Given the description of an element on the screen output the (x, y) to click on. 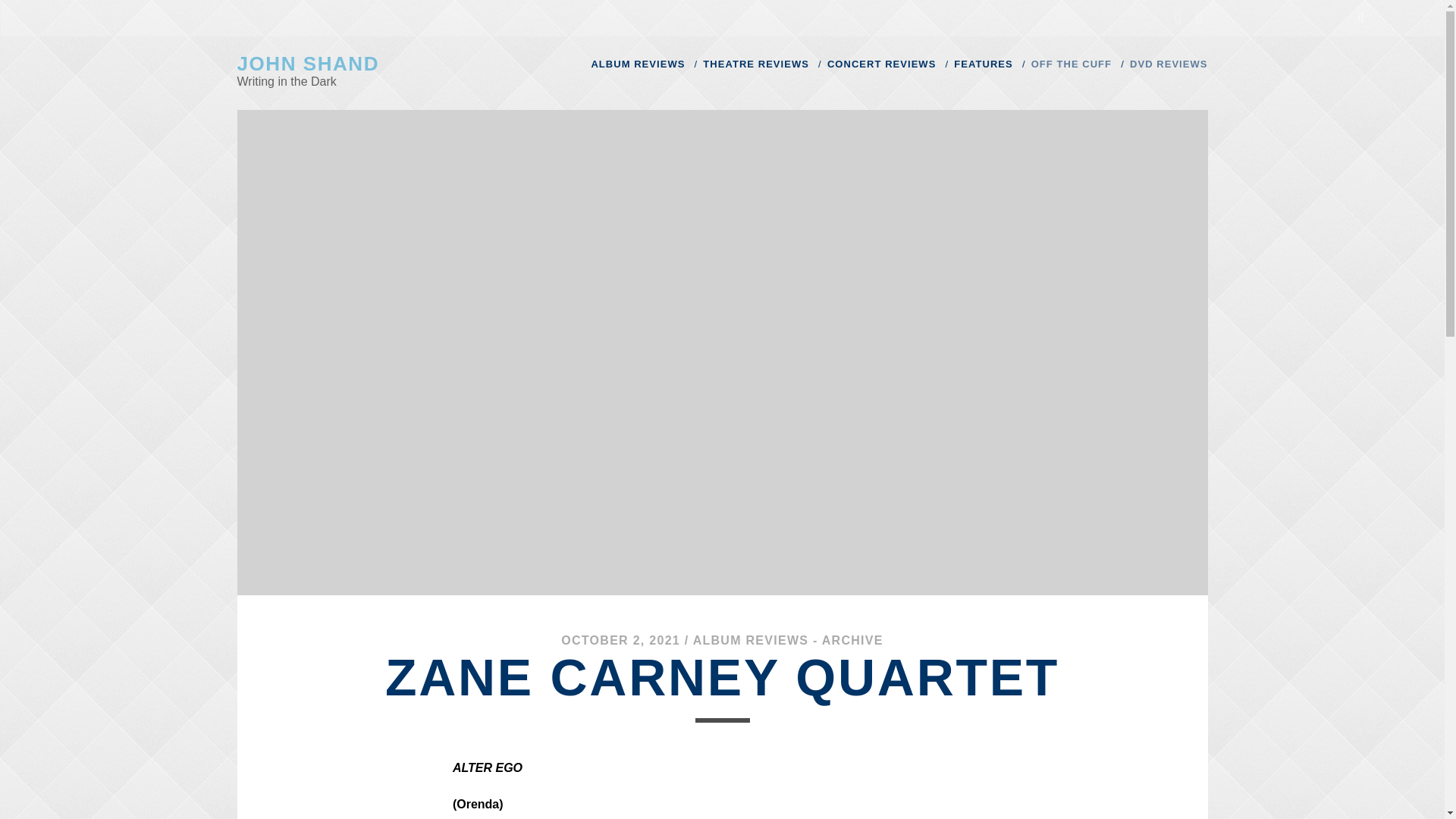
FEATURES (982, 64)
JOHN SHAND (306, 63)
ALBUM REVIEWS (637, 64)
DVD REVIEWS (1168, 64)
OFF THE CUFF (1071, 64)
ALBUM REVIEWS - ARCHIVE (788, 640)
THEATRE REVIEWS (756, 64)
CONCERT REVIEWS (881, 64)
